Given the description of an element on the screen output the (x, y) to click on. 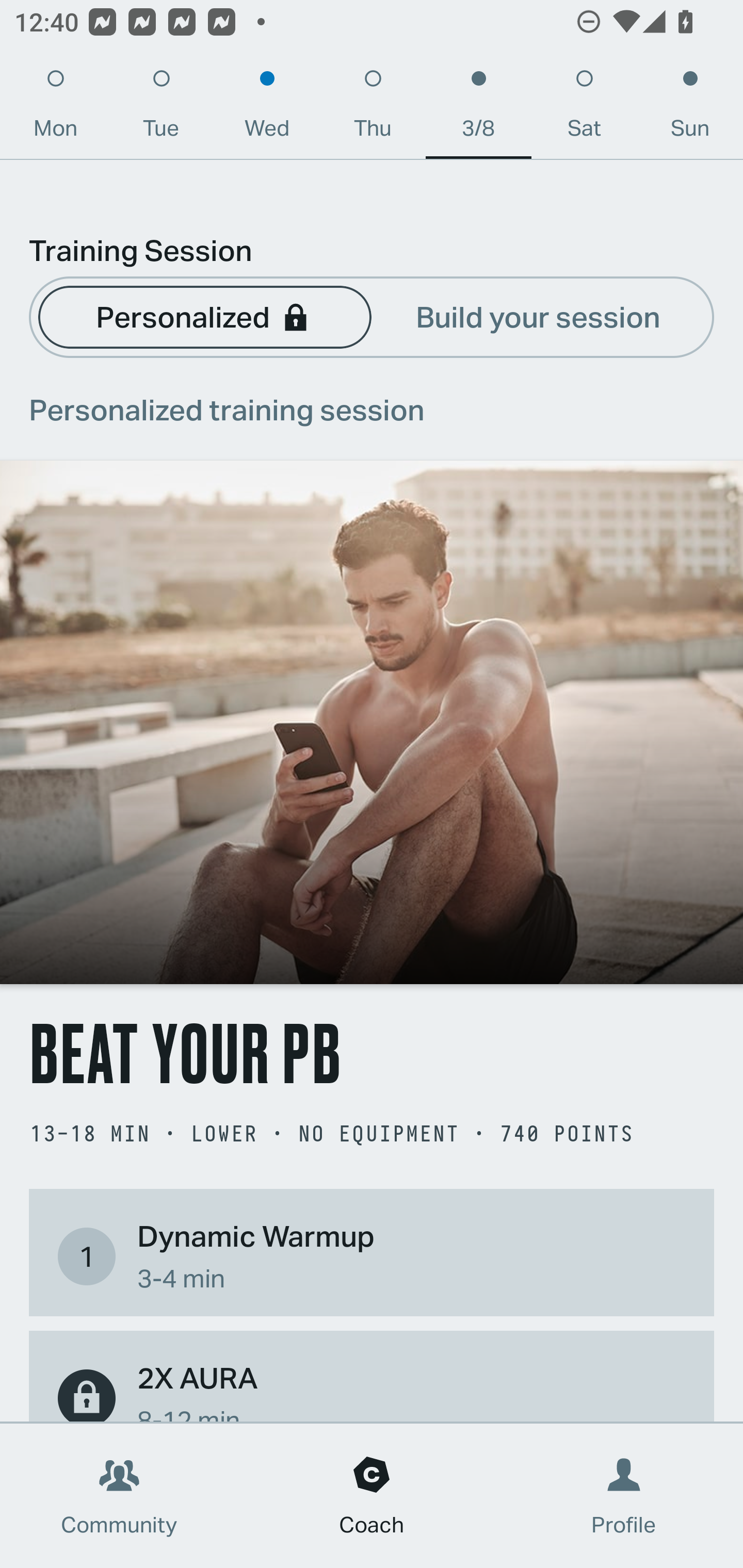
Mon (55, 108)
Tue (160, 108)
Wed (266, 108)
Thu (372, 108)
3/8 (478, 108)
Sat (584, 108)
Sun (690, 108)
Personalized (204, 315)
Build your session (538, 315)
1 Dynamic Warmup 3-4 min (371, 1256)
2X AURA 8-12 min (371, 1388)
Community (119, 1495)
Profile (624, 1495)
